Given the description of an element on the screen output the (x, y) to click on. 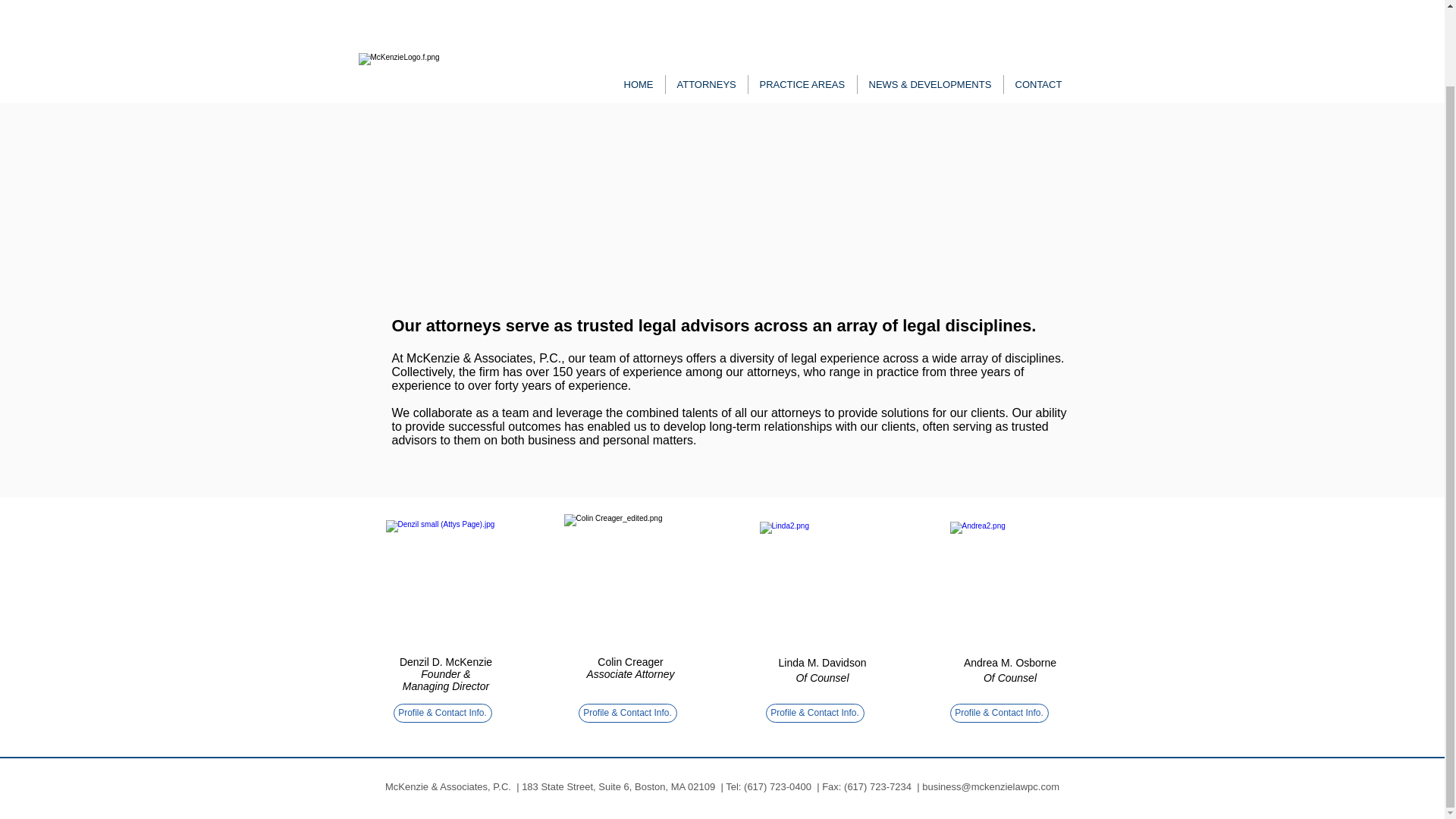
Andrea M. Osborne (1010, 662)
ATTORNEYS (704, 4)
Colin Creager.jpg (627, 581)
Denzil D. McKenzie (445, 662)
Colin Creager (629, 662)
Linda M. Davidson (822, 662)
HOME (638, 4)
PRACTICE AREAS (802, 4)
CONTACT (1038, 4)
